Given the description of an element on the screen output the (x, y) to click on. 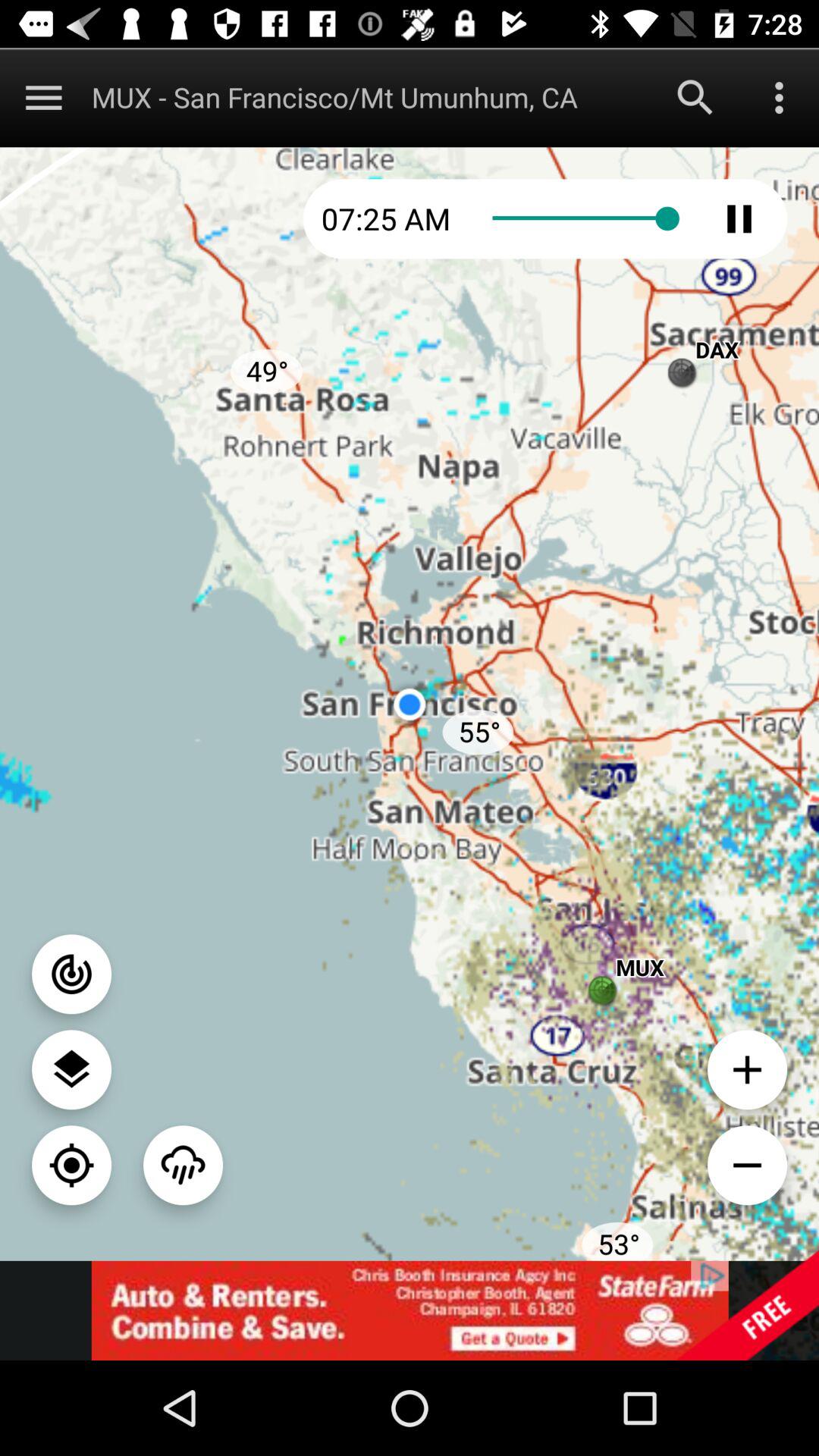
setting button (779, 97)
